Given the description of an element on the screen output the (x, y) to click on. 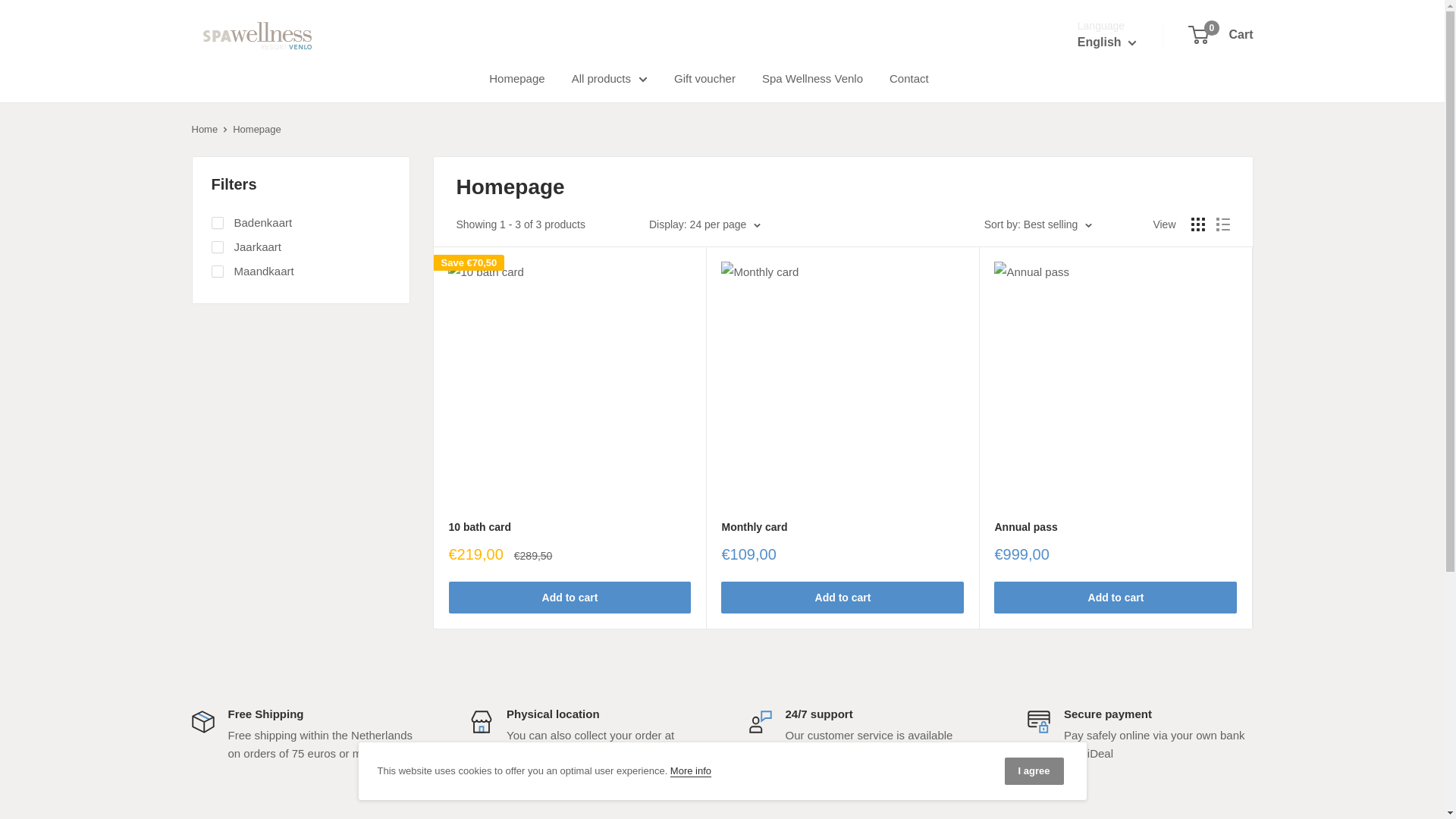
Privacy Policy (690, 770)
Spa Wellness Venlo (812, 78)
Homepage (1220, 34)
on (516, 78)
nl (216, 271)
All products (1113, 83)
Spa Wellness Venlo (609, 78)
en (256, 35)
on (1113, 127)
English (216, 223)
Gift voucher (1107, 42)
de (704, 78)
on (1113, 105)
